Given the description of an element on the screen output the (x, y) to click on. 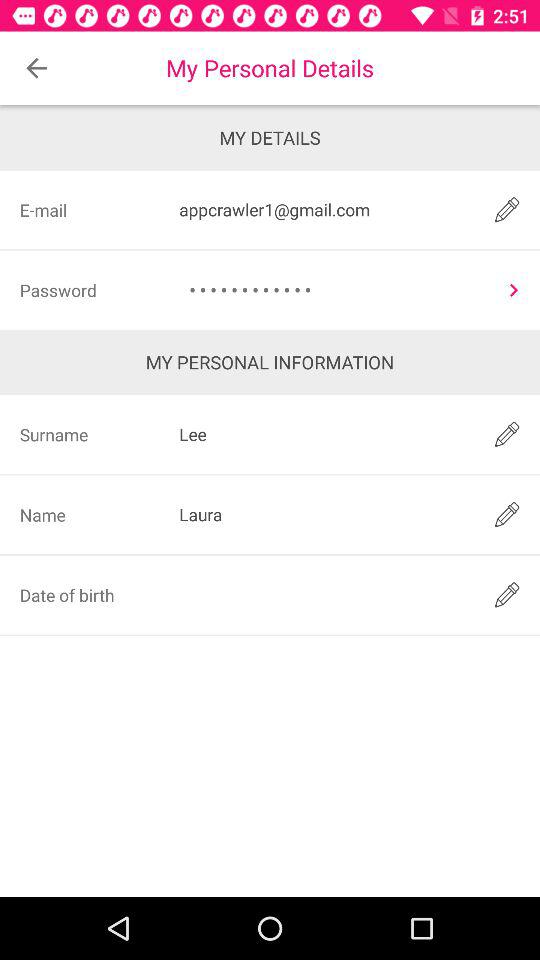
edit date of birth (506, 594)
